Given the description of an element on the screen output the (x, y) to click on. 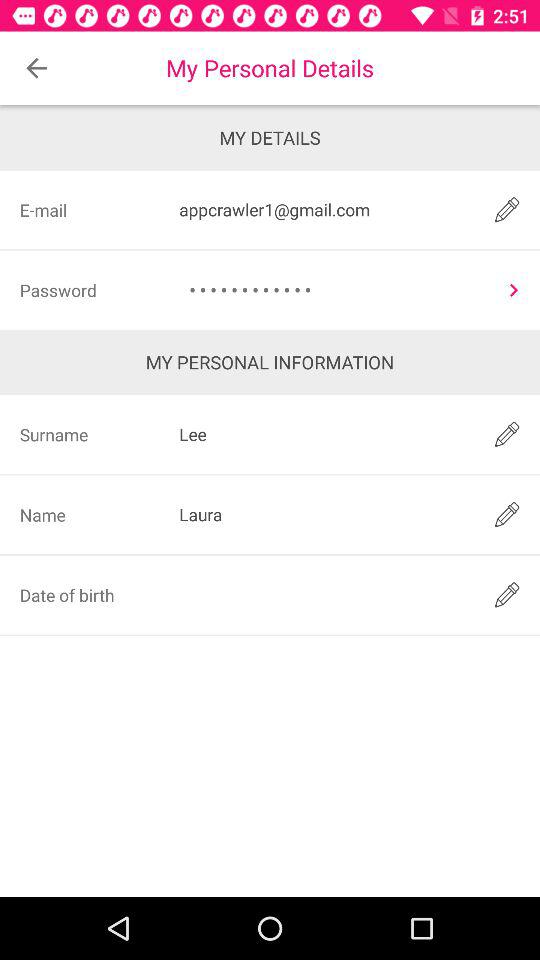
edit date of birth (506, 594)
